Given the description of an element on the screen output the (x, y) to click on. 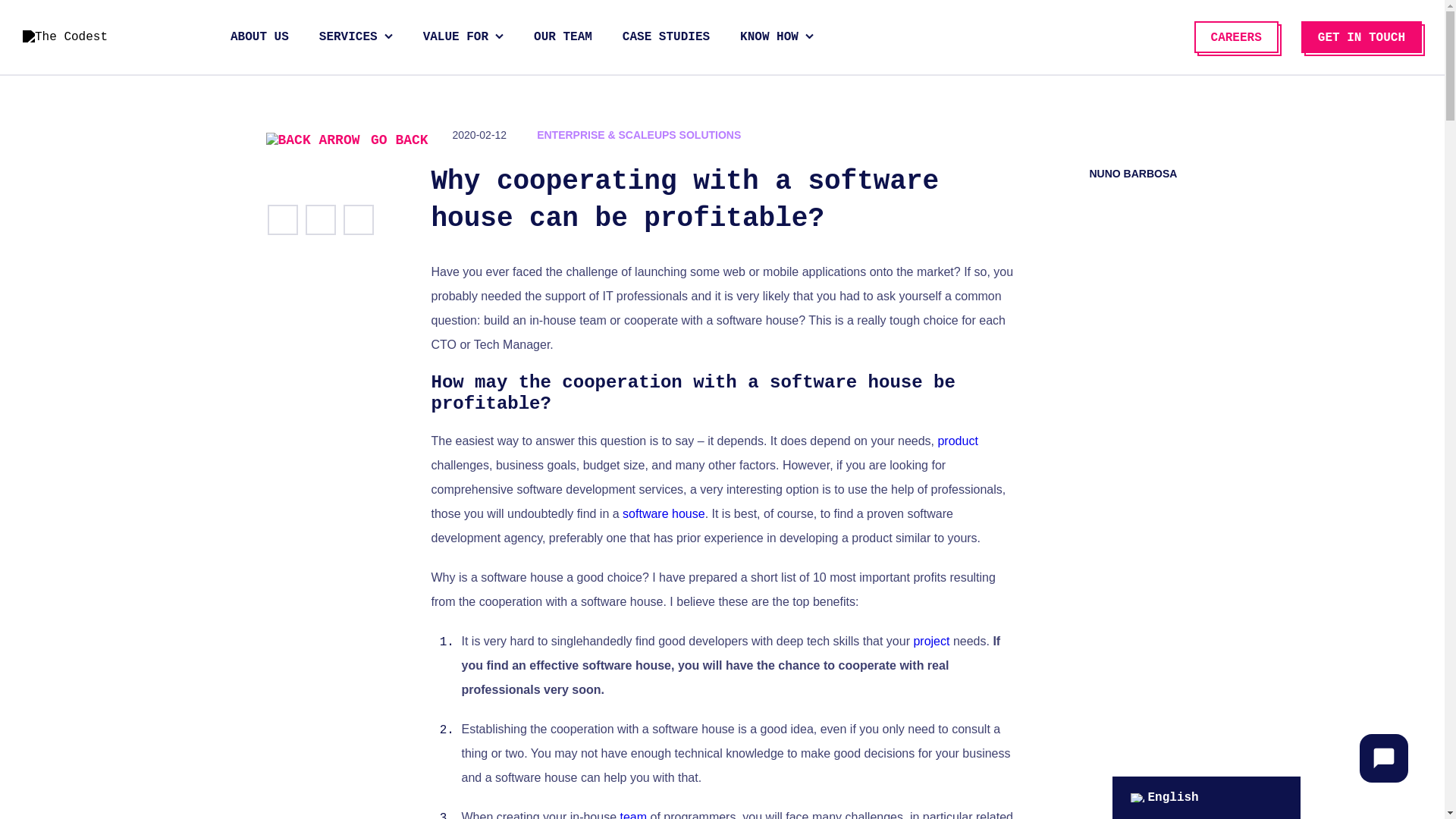
Back arrow (311, 140)
The Codest (77, 37)
CASE STUDIES (666, 37)
GET IN TOUCH (1361, 37)
CAREERS (1235, 37)
English (1135, 797)
